Given the description of an element on the screen output the (x, y) to click on. 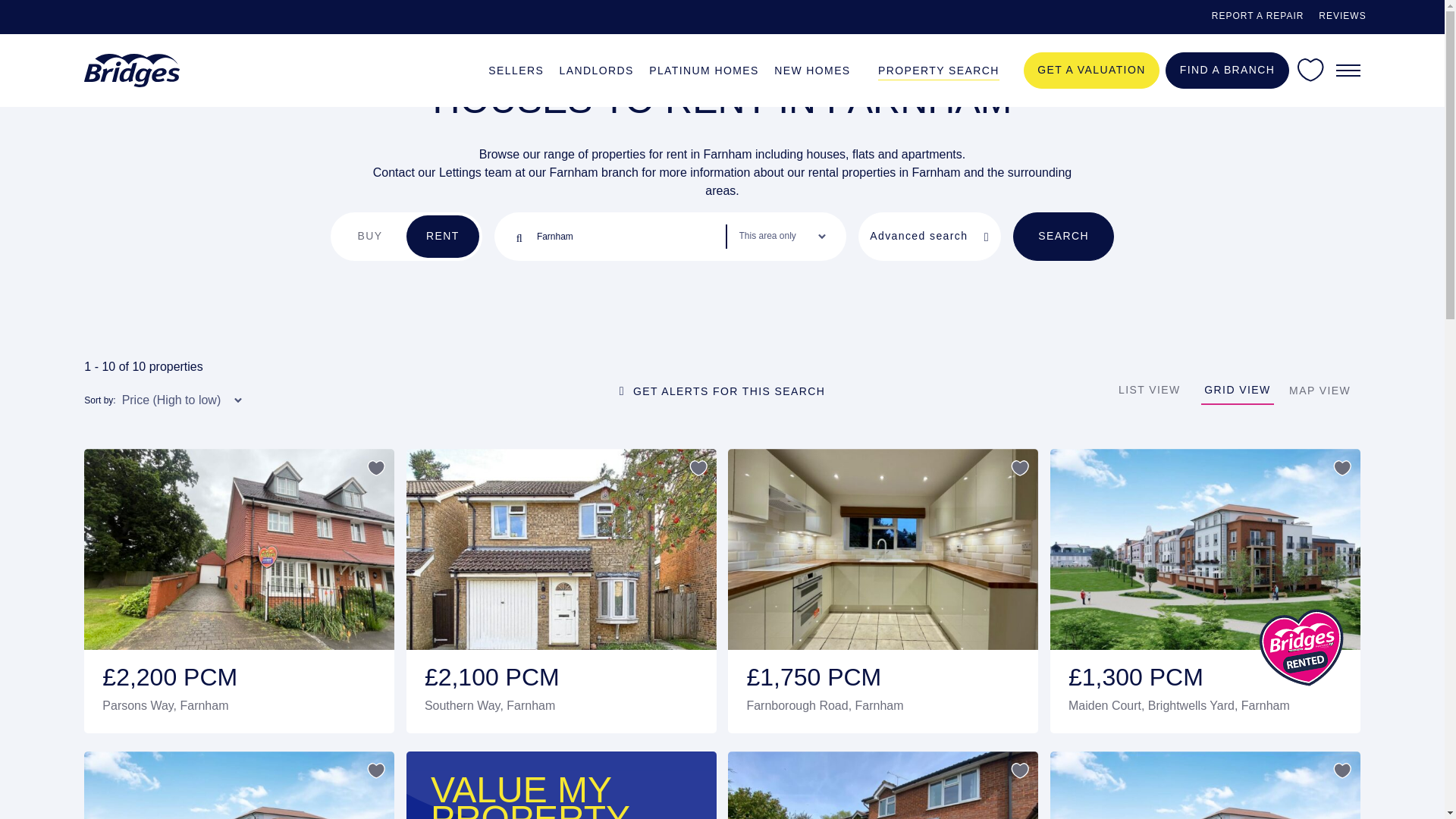
MAP VIEW (1319, 390)
Advanced search (930, 236)
SELLERS (515, 68)
LANDLORDS (596, 68)
NEW HOMES (812, 68)
Lettings team at our Farnham branch (539, 172)
Farnham (628, 236)
REVIEWS (1342, 16)
GET ALERTS FOR THIS SEARCH (722, 390)
FIND A BRANCH (1227, 70)
